Given the description of an element on the screen output the (x, y) to click on. 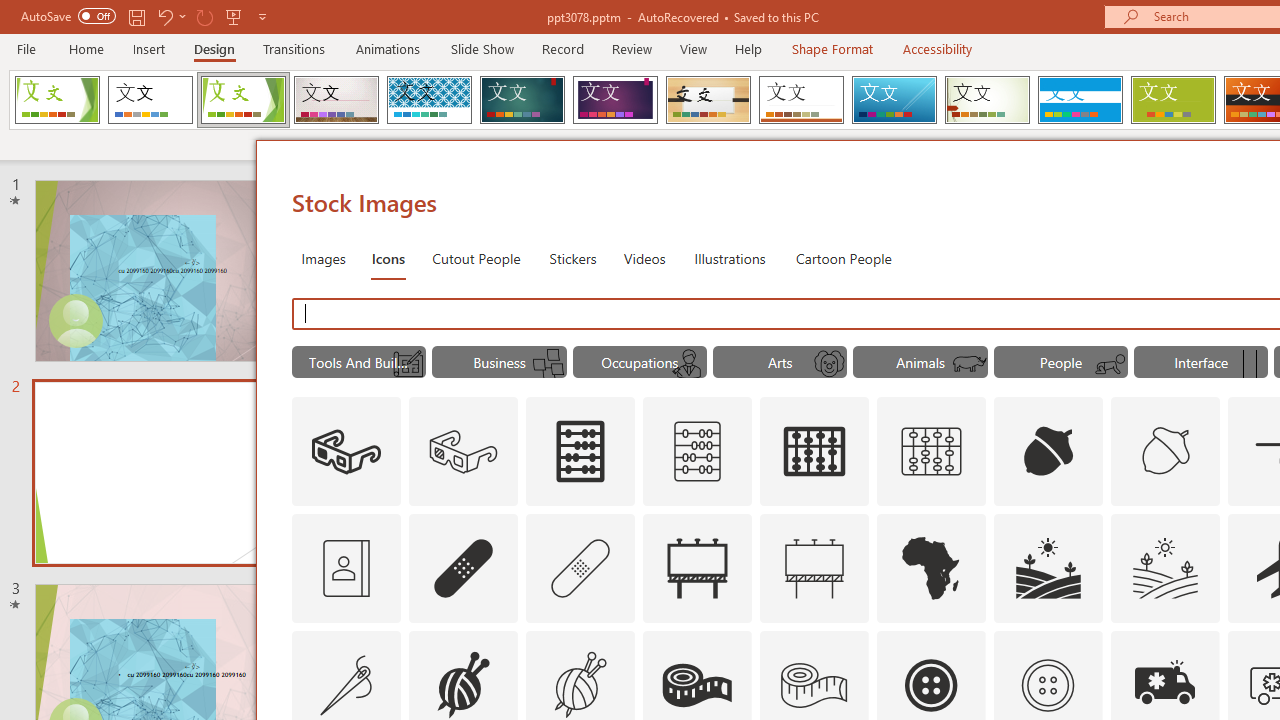
Banded (1080, 100)
Organic (708, 100)
AutomationID: Icons_Africa (931, 568)
AutomationID: Icons_3dGlasses_M (463, 452)
"People" Icons. (1060, 362)
Basis (1172, 100)
"Occupations" Icons. (639, 362)
